Given the description of an element on the screen output the (x, y) to click on. 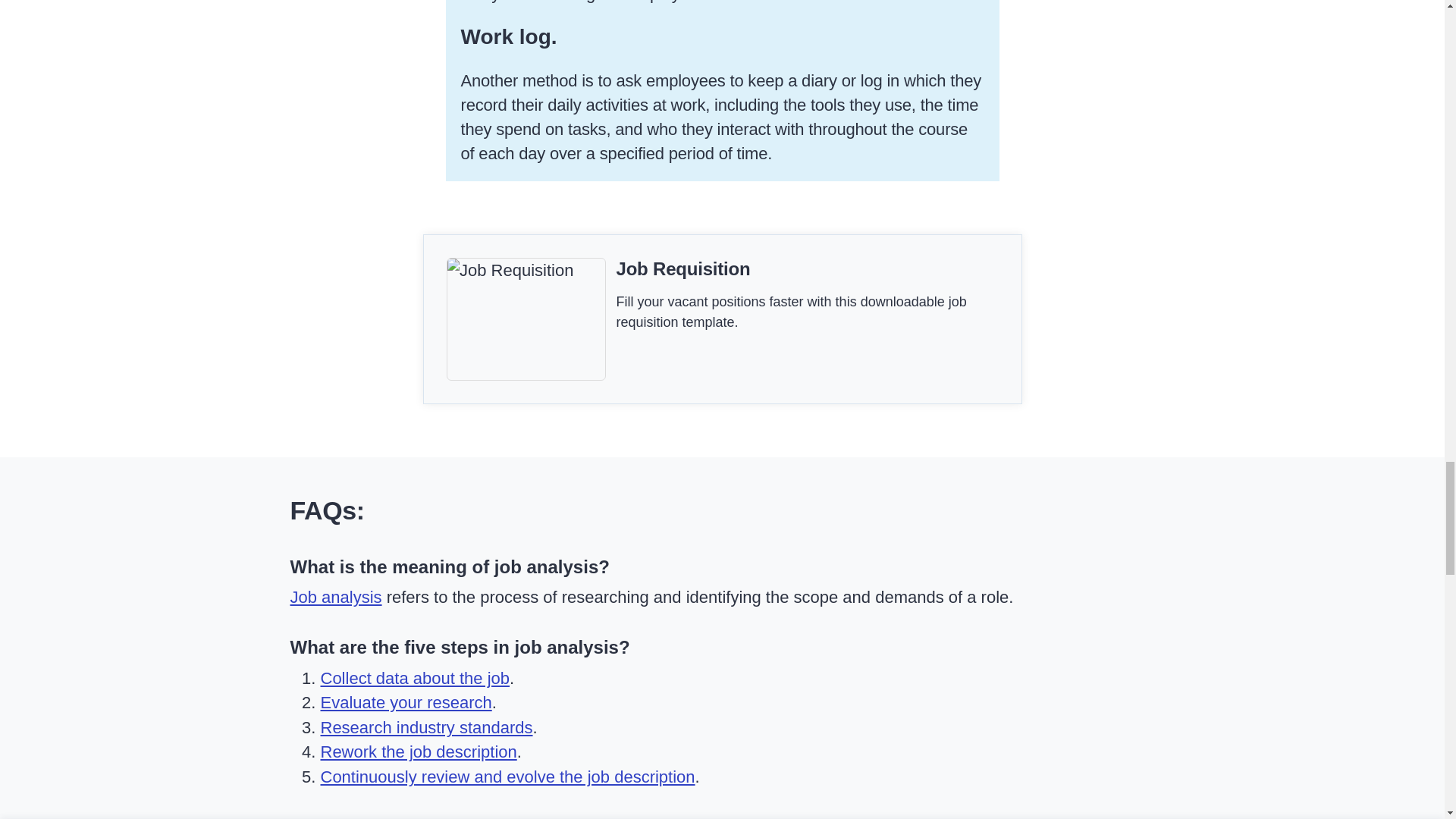
Job Requisition (682, 268)
Research industry standards (426, 727)
Evaluate your research (406, 701)
Rework the job description (418, 751)
Collect data about the job (414, 678)
Continuously review and evolve the job description (507, 776)
Job analysis (335, 597)
